Given the description of an element on the screen output the (x, y) to click on. 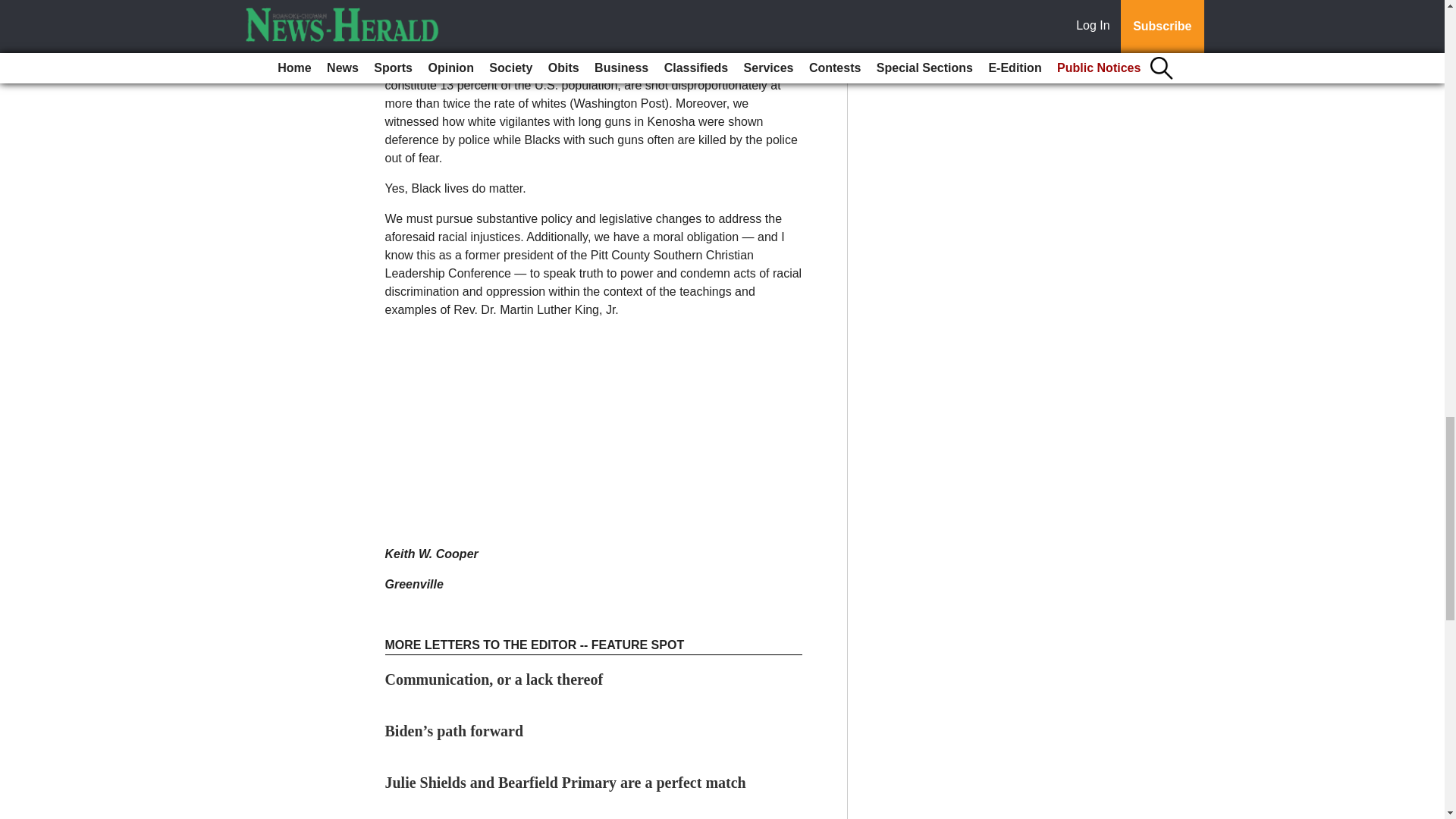
Julie Shields and Bearfield Primary are a perfect match (565, 782)
Communication, or a lack thereof (494, 678)
Communication, or a lack thereof (494, 678)
Julie Shields and Bearfield Primary are a perfect match (565, 782)
